Given the description of an element on the screen output the (x, y) to click on. 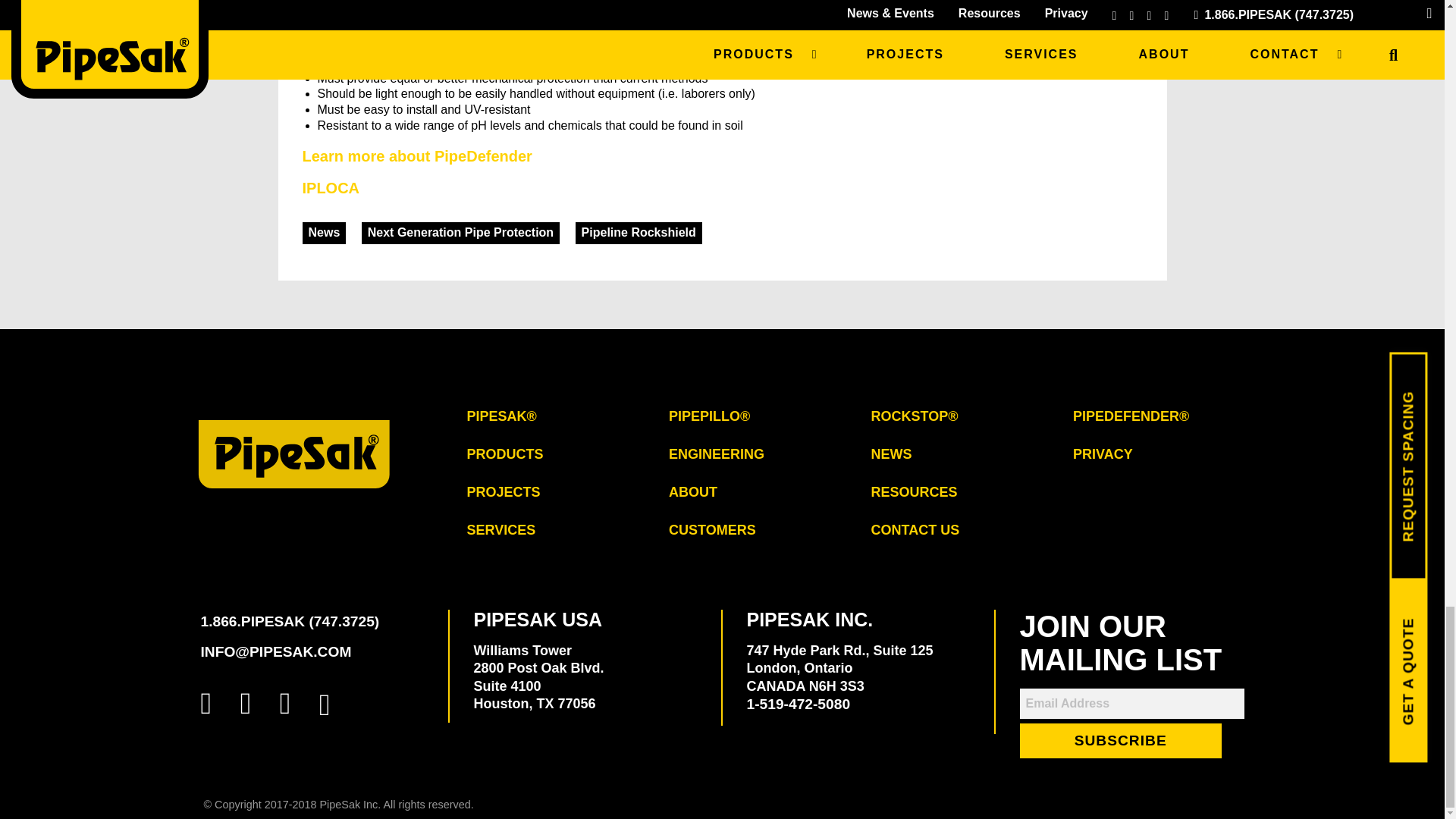
Subscribe (1120, 741)
